Given the description of an element on the screen output the (x, y) to click on. 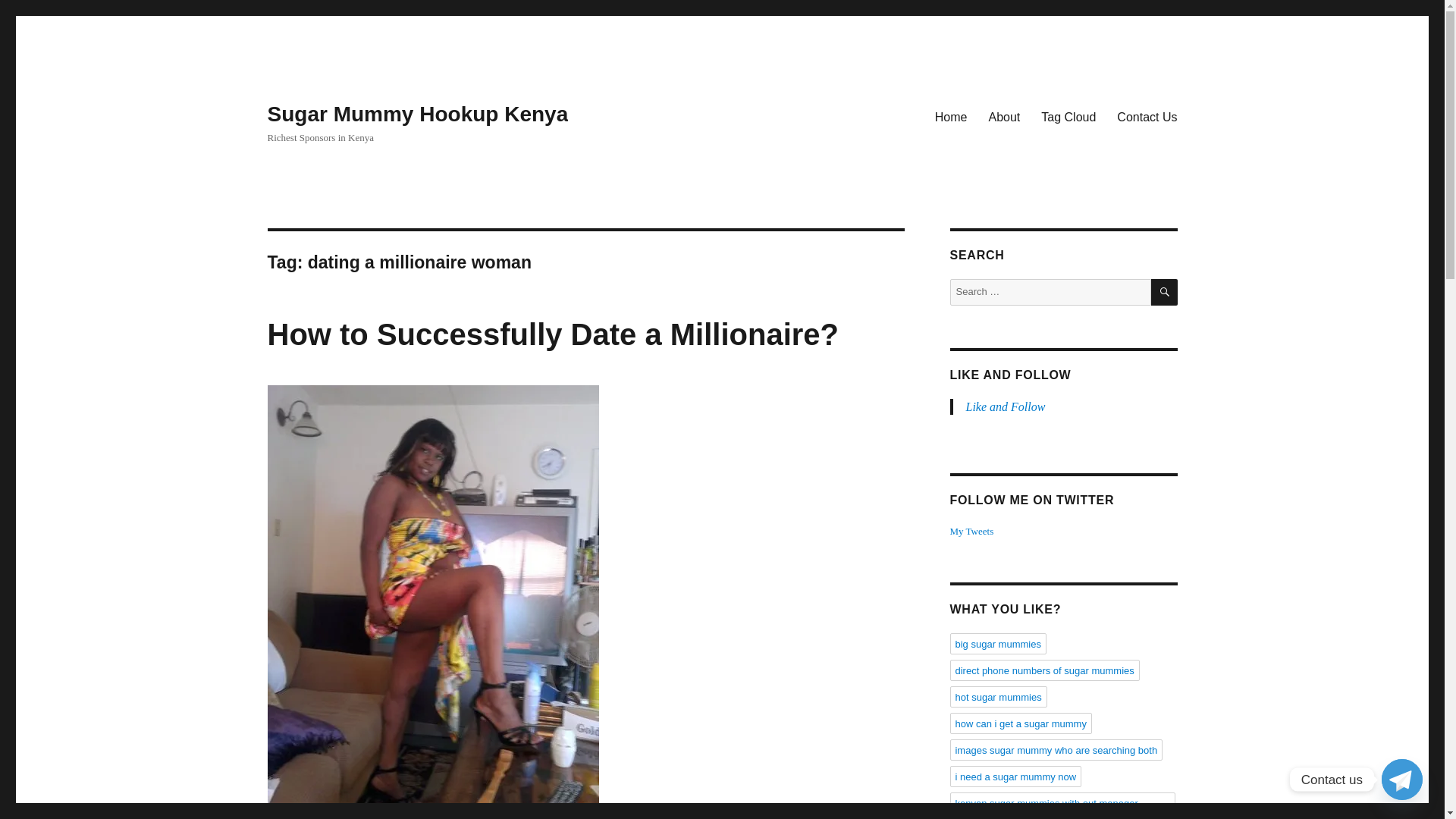
Sugar Mummy Hookup Kenya (416, 114)
Tag Cloud (1068, 116)
Home (951, 116)
LIKE AND FOLLOW (1009, 374)
How to Successfully Date a Millionaire? (552, 334)
About (1004, 116)
Like and Follow (1005, 406)
SEARCH (1164, 292)
Contact Us (1147, 116)
